Given the description of an element on the screen output the (x, y) to click on. 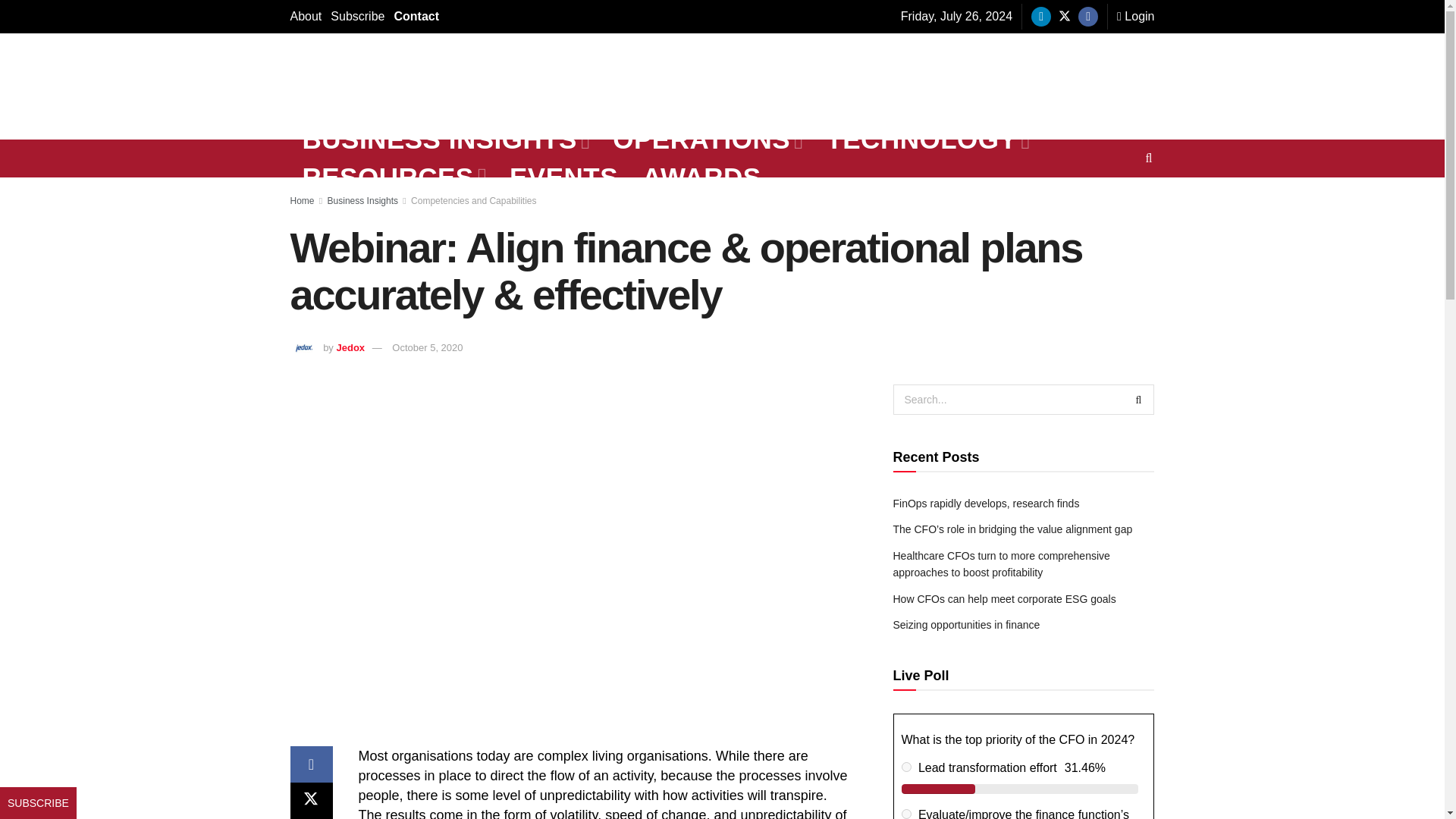
Subscribe (357, 16)
EVENTS (563, 177)
43 (906, 814)
AWARDS (701, 177)
TECHNOLOGY (927, 139)
About (305, 16)
OPERATIONS (706, 139)
42 (906, 767)
RESOURCES (393, 177)
BUSINESS INSIGHTS (444, 139)
Login (1135, 16)
Contact (416, 16)
